Given the description of an element on the screen output the (x, y) to click on. 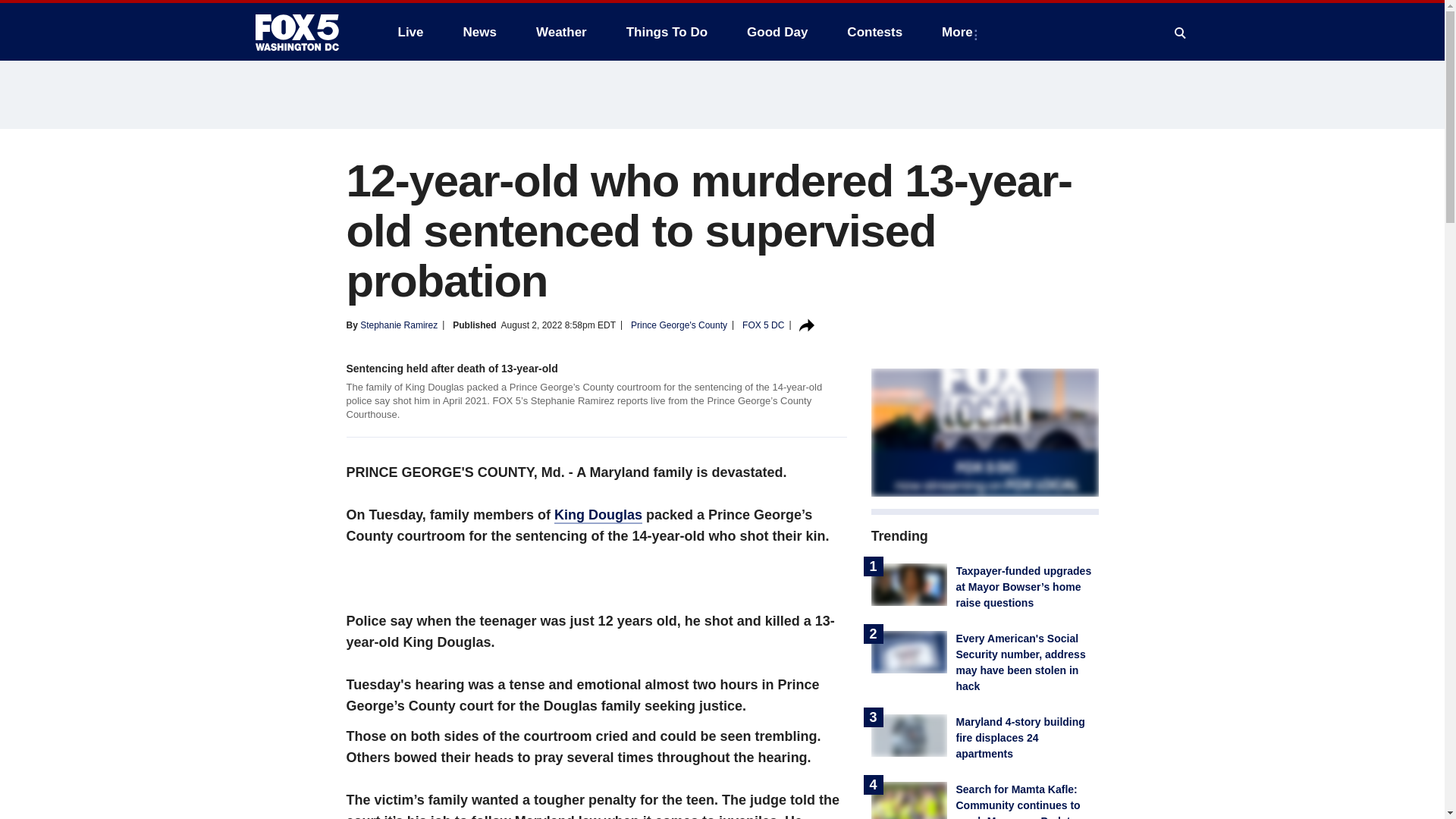
Weather (561, 32)
More (960, 32)
Things To Do (666, 32)
Contests (874, 32)
Good Day (777, 32)
News (479, 32)
Live (410, 32)
